Given the description of an element on the screen output the (x, y) to click on. 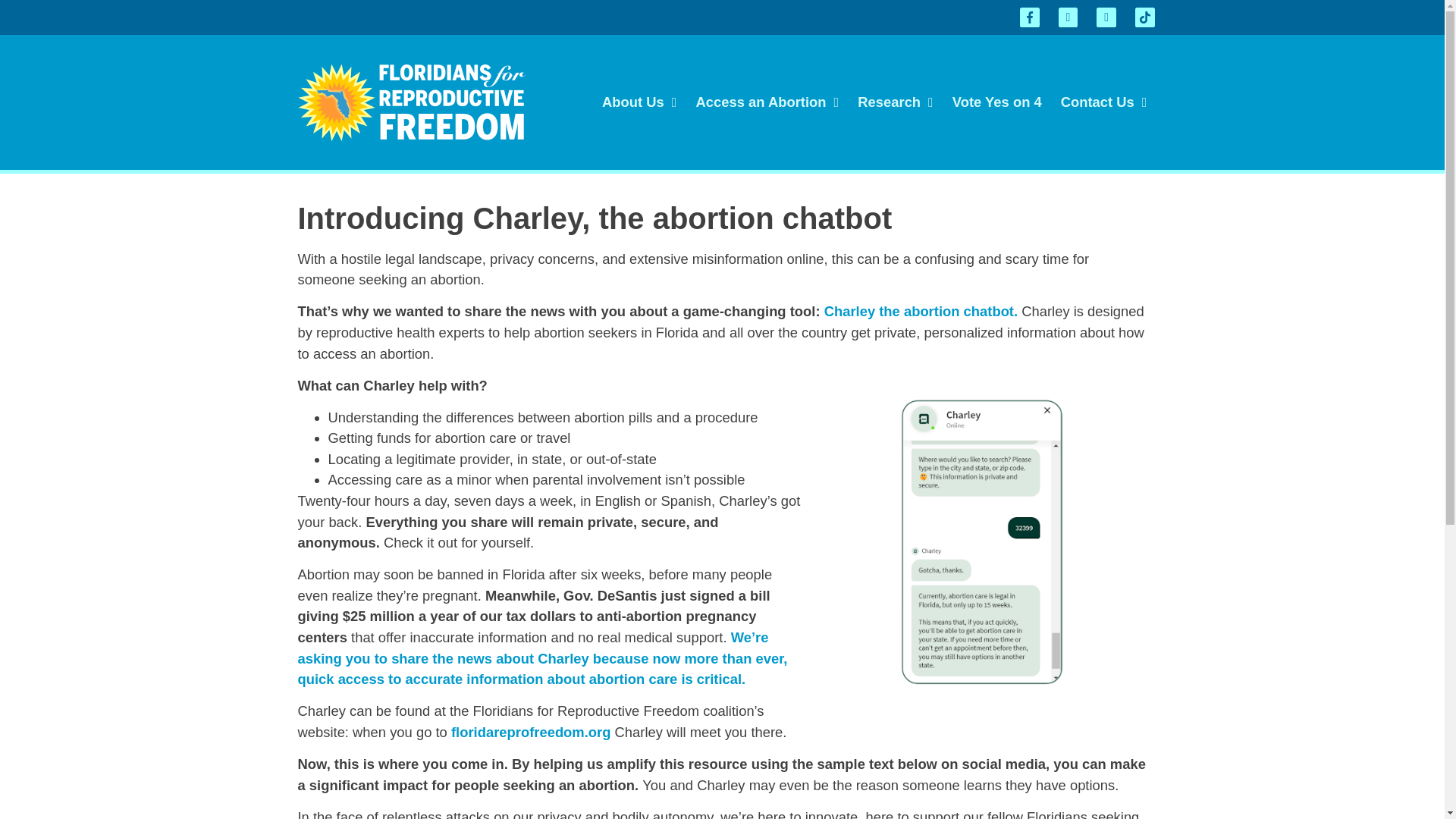
Vote Yes on 4 (997, 102)
Contact Us (1104, 102)
Research (895, 102)
Access an Abortion (767, 102)
About Us (639, 102)
